Given the description of an element on the screen output the (x, y) to click on. 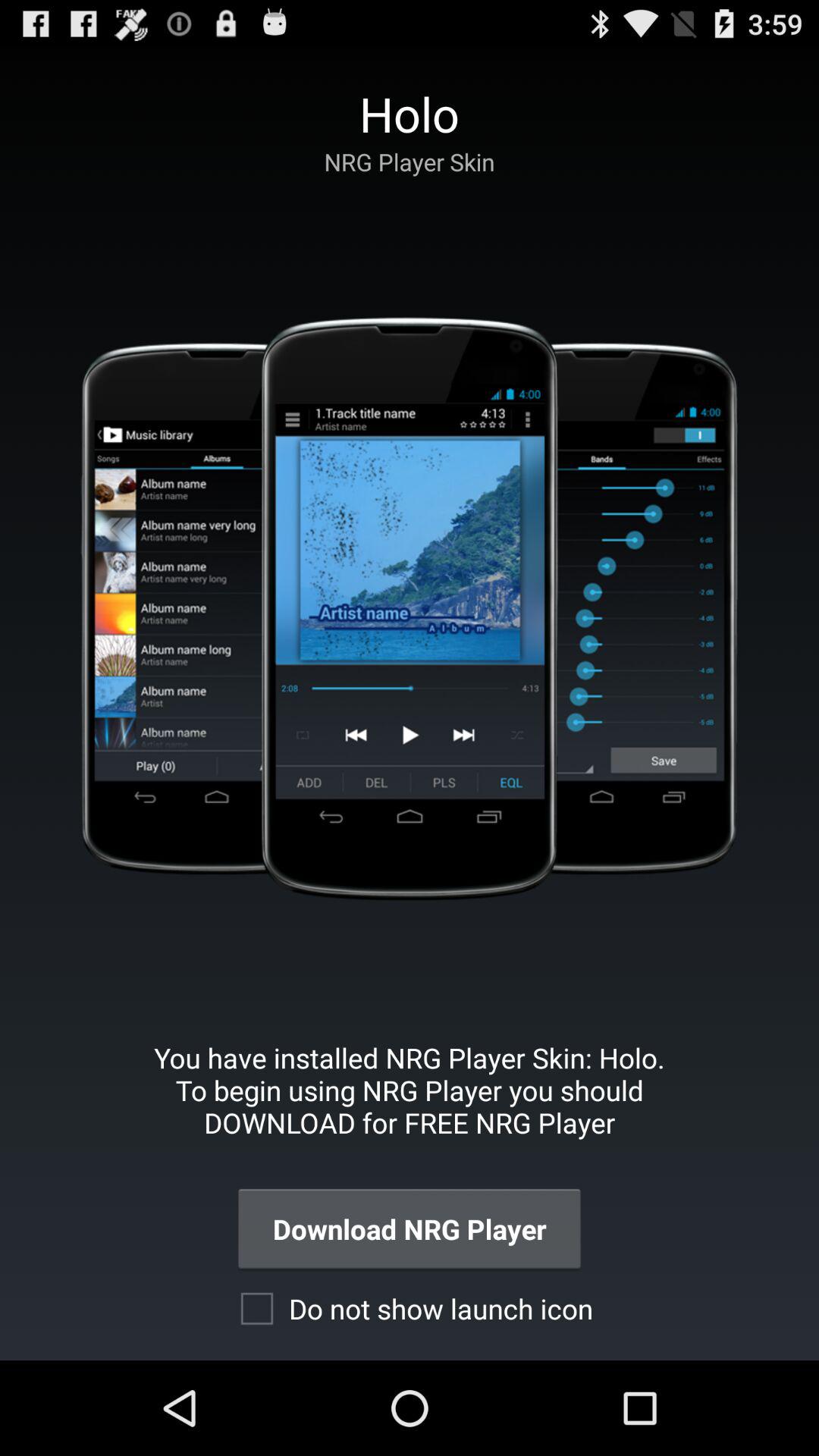
open the icon below the download nrg player (409, 1308)
